Given the description of an element on the screen output the (x, y) to click on. 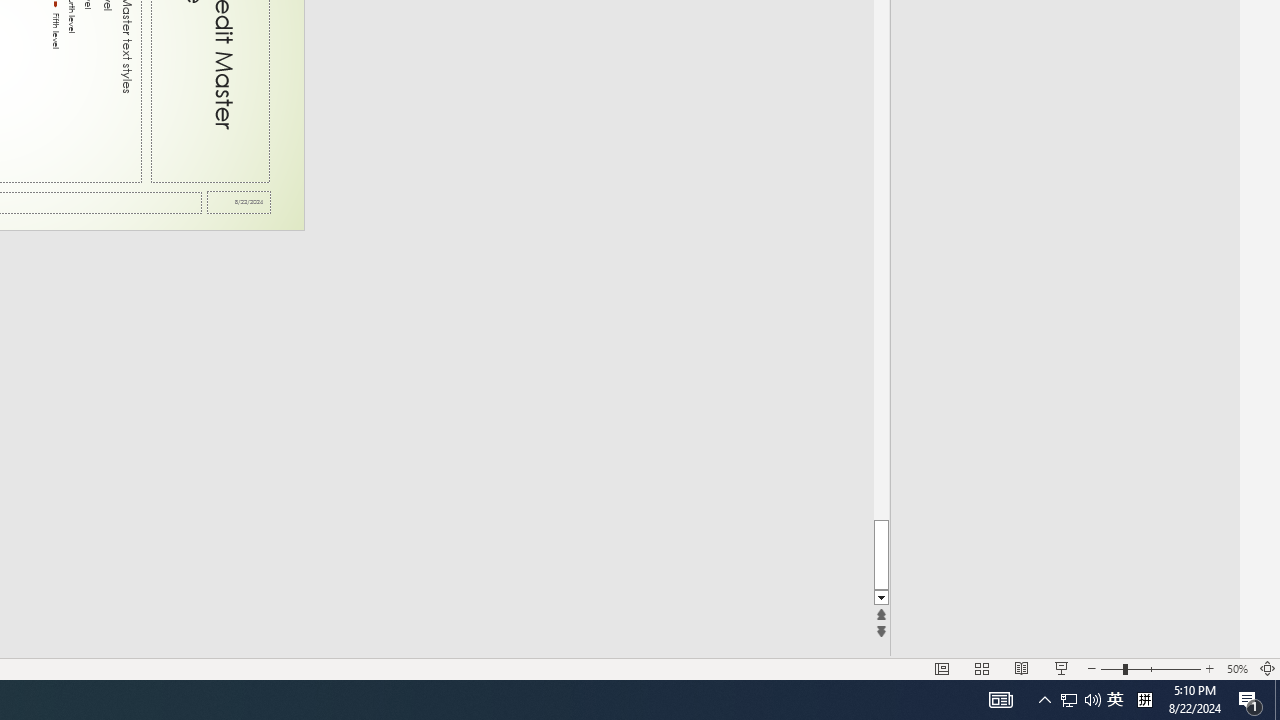
Don't Save (111, 126)
Zoom 95% (1253, 640)
Cancel (244, 126)
